Given the description of an element on the screen output the (x, y) to click on. 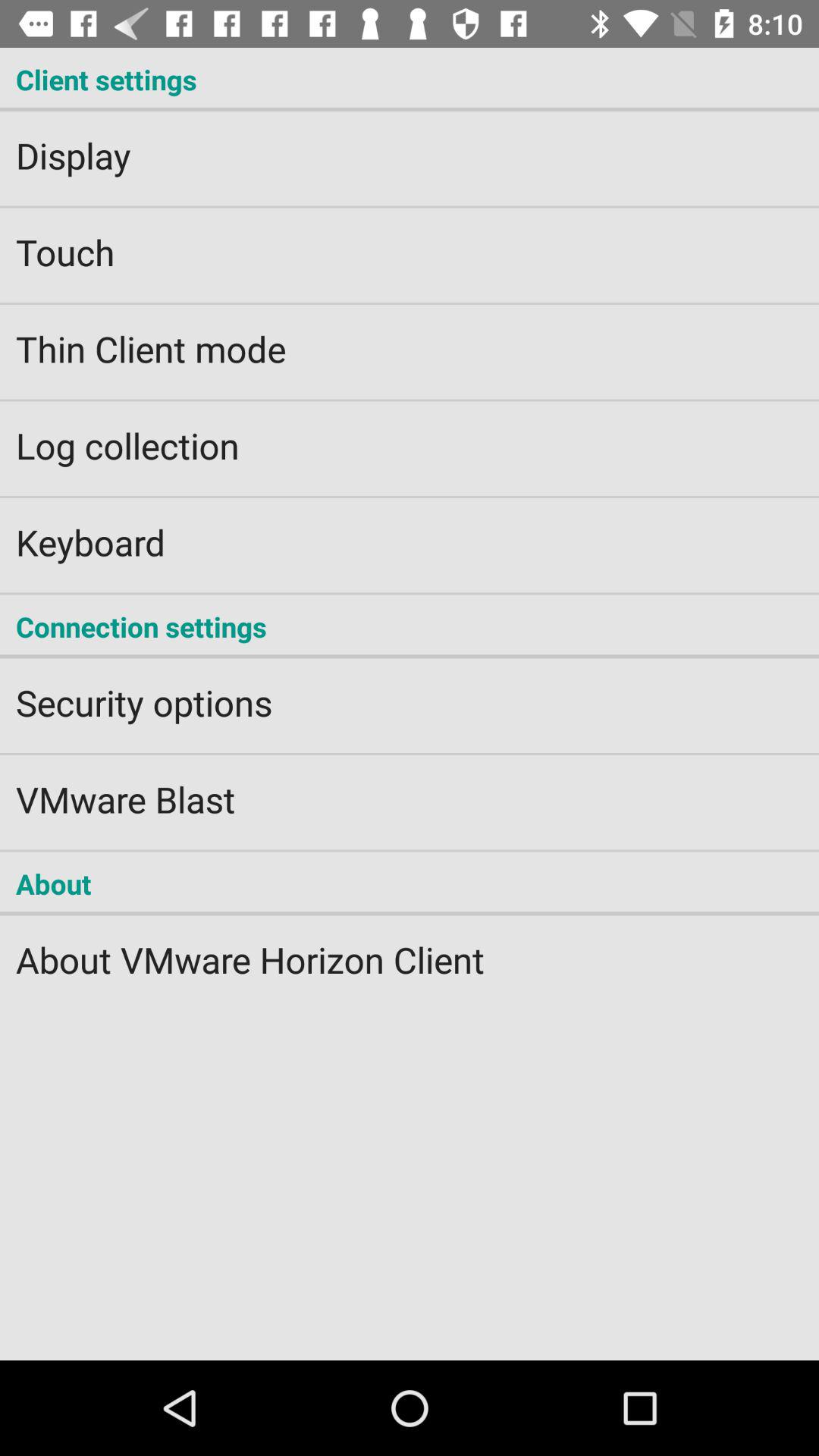
flip to touch icon (409, 242)
